Given the description of an element on the screen output the (x, y) to click on. 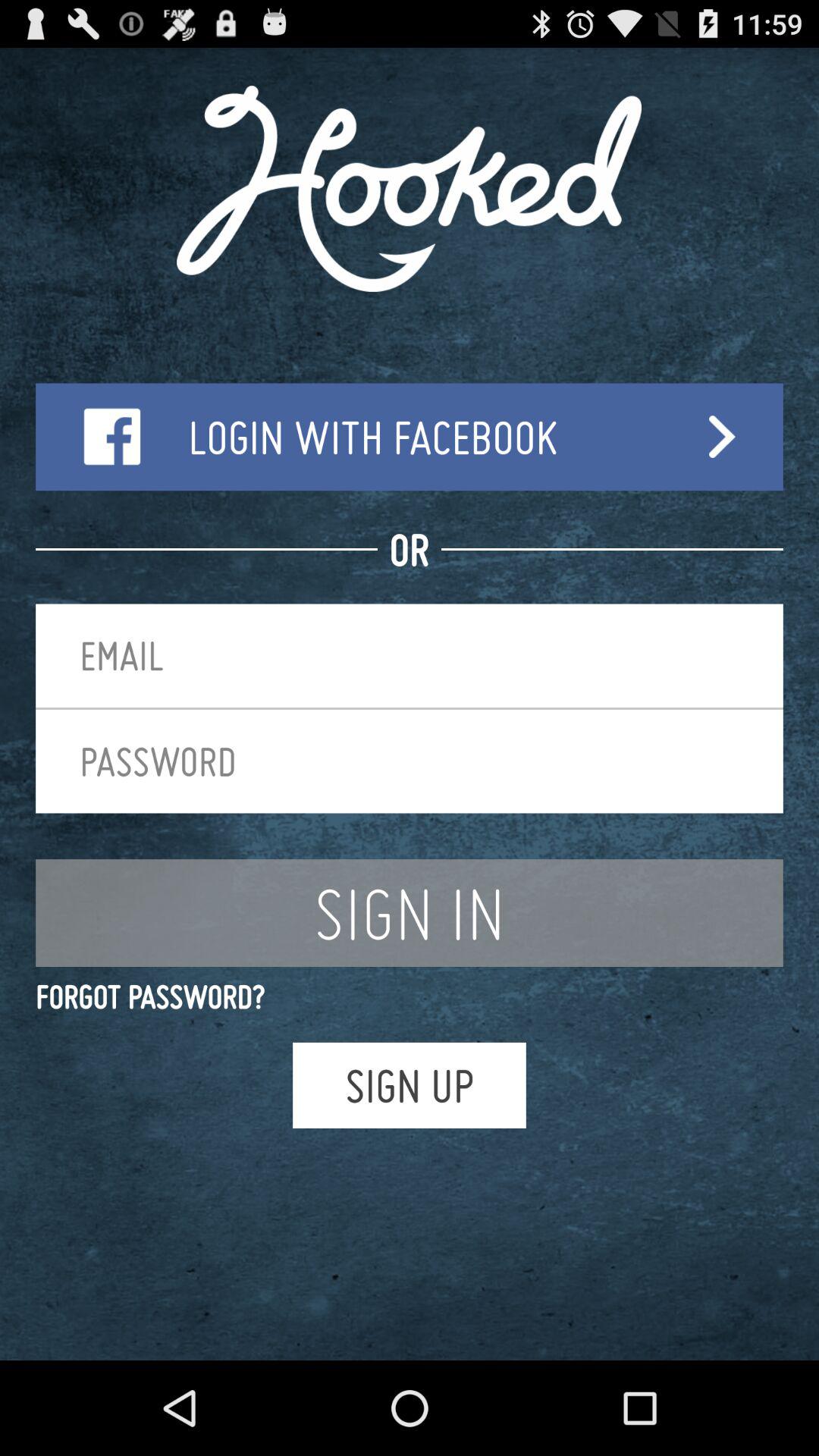
turn on item above sign up item (409, 996)
